Given the description of an element on the screen output the (x, y) to click on. 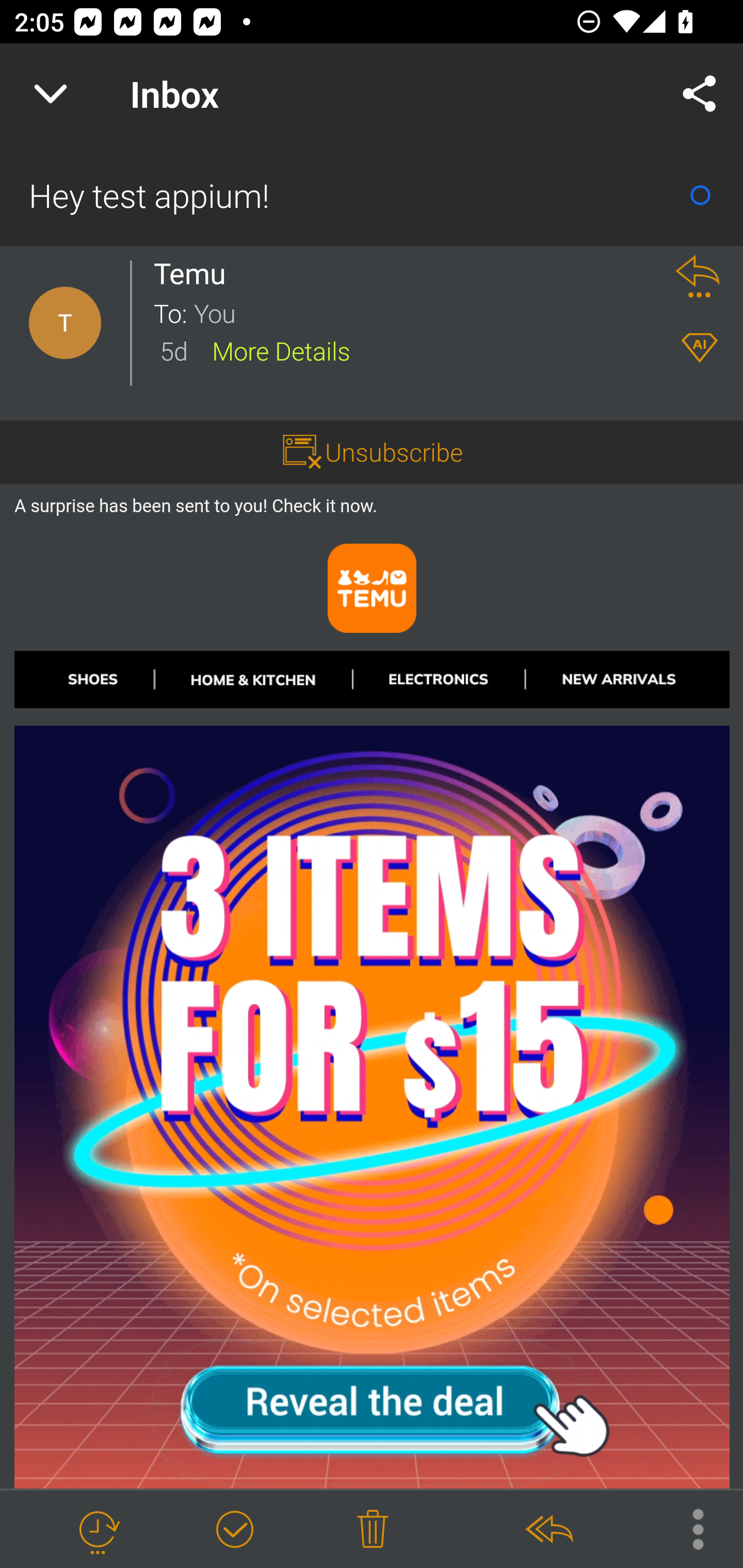
Navigate up (50, 93)
Share (699, 93)
Mark as Read (699, 194)
Temu (195, 273)
Contact Details (64, 322)
You (422, 311)
More Details (280, 349)
Unsubscribe (393, 451)
175x72x0x0 (84, 678)
250x72x175x0 (252, 678)
218x72x425x0 (438, 678)
257x72x643x0 (627, 678)
b57e34972bcbfa1b19ebc9d9493bcf96 (372, 1107)
More Options (687, 1528)
Snooze (97, 1529)
Mark as Done (234, 1529)
Delete (372, 1529)
Reply All (548, 1529)
